Given the description of an element on the screen output the (x, y) to click on. 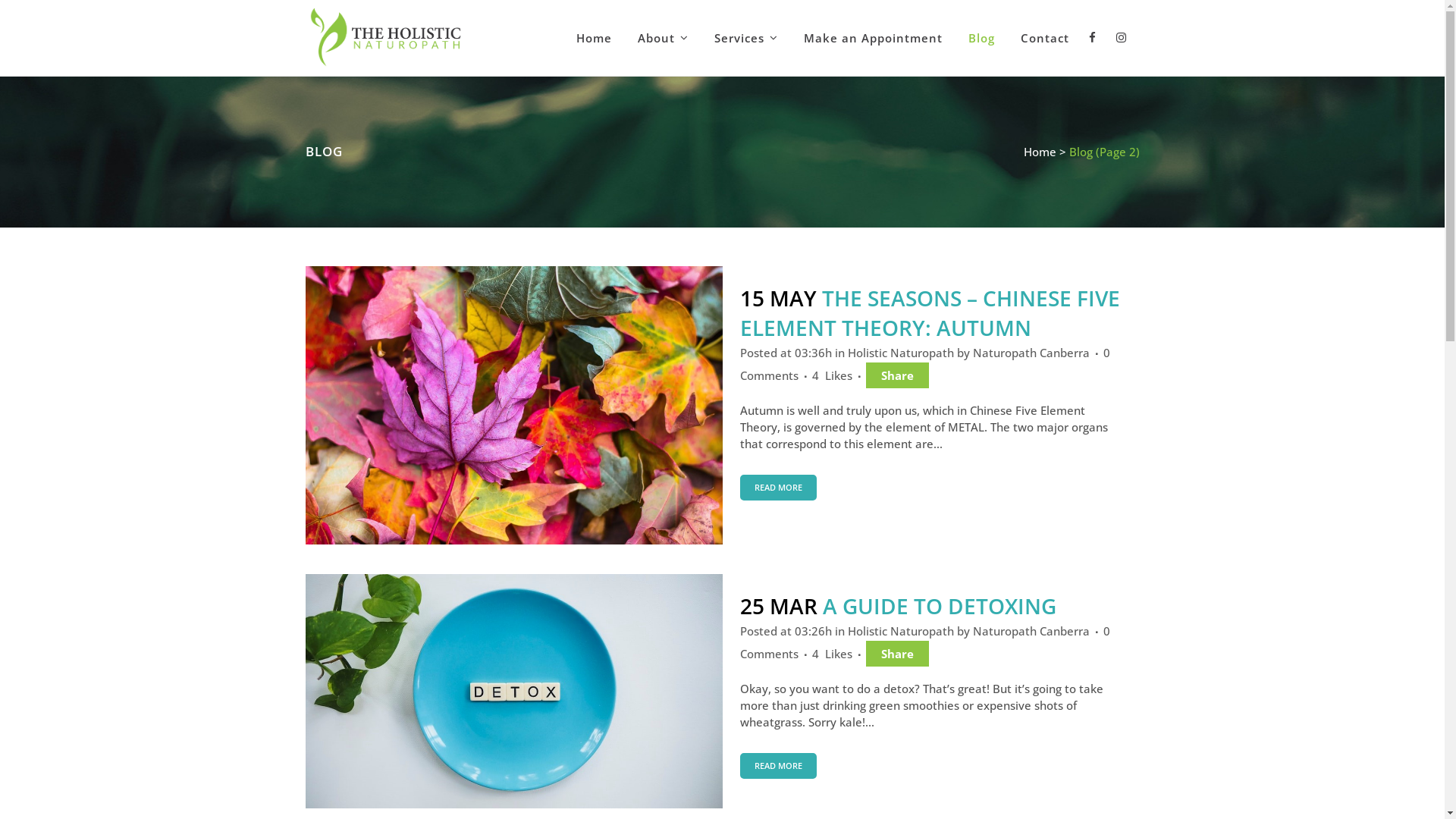
About Element type: text (662, 37)
READ MORE Element type: text (778, 487)
Share Element type: text (897, 374)
Naturopath Canberra Element type: text (1030, 630)
Blog Element type: text (981, 37)
4 Likes Element type: text (831, 653)
READ MORE Element type: text (778, 765)
Contact Element type: text (1044, 37)
A Guide to Detoxing Element type: hover (512, 691)
Services Element type: text (745, 37)
4 Likes Element type: text (831, 375)
Holistic Naturopath Element type: text (900, 352)
Naturopath Canberra Element type: text (1030, 352)
0 Comments Element type: text (925, 642)
Make an Appointment Element type: text (872, 37)
0 Comments Element type: text (925, 363)
A GUIDE TO DETOXING Element type: text (938, 605)
Holistic Naturopath Element type: text (900, 630)
Home Element type: text (593, 37)
Share Element type: text (897, 653)
Home Element type: text (1039, 151)
